Given the description of an element on the screen output the (x, y) to click on. 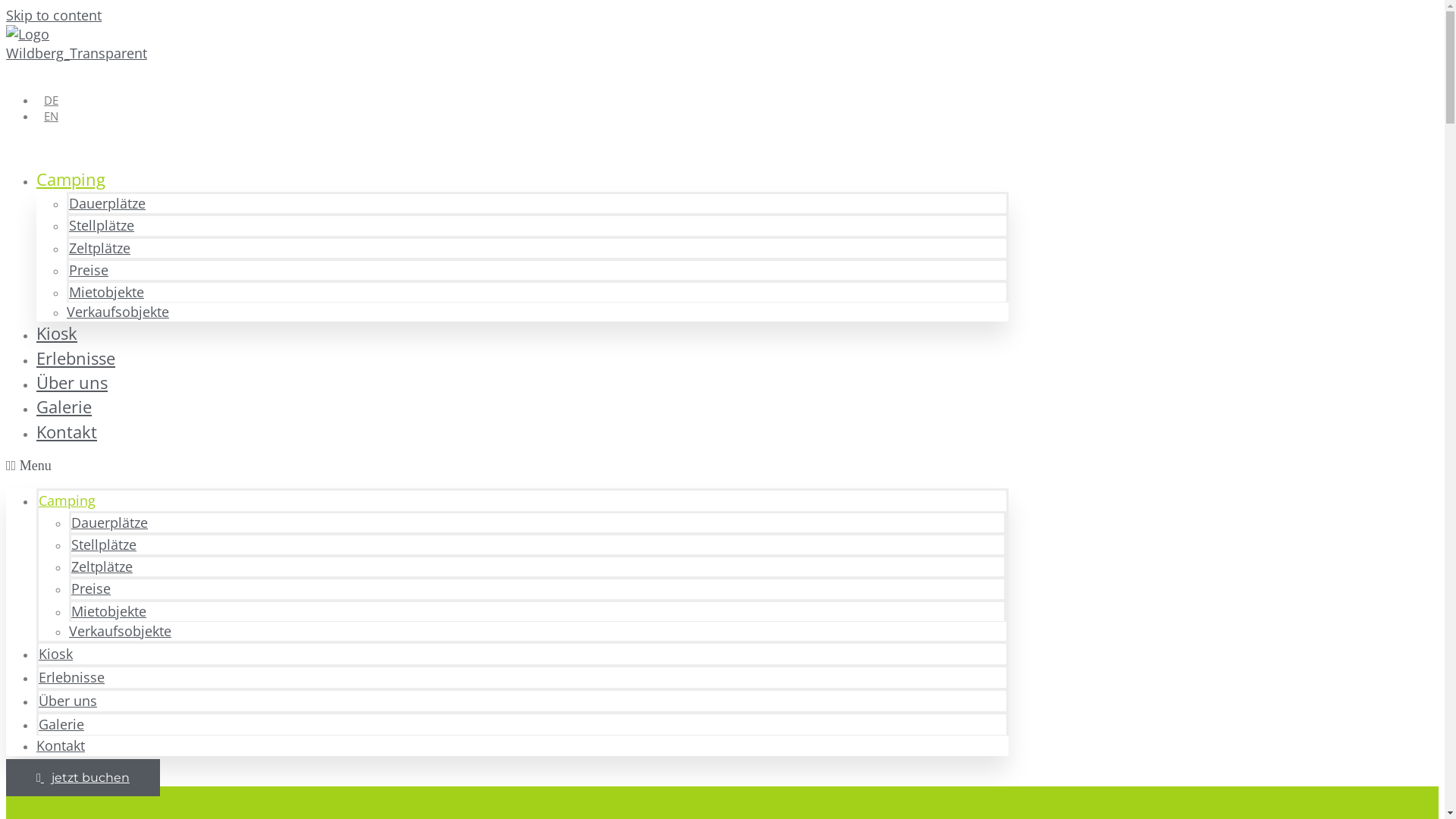
Erlebnisse Element type: text (75, 358)
Skip to content Element type: text (53, 15)
Galerie Element type: text (61, 724)
Kontakt Element type: text (60, 745)
Erlebnisse Element type: text (71, 677)
Mietobjekte Element type: text (106, 291)
Kiosk Element type: text (56, 333)
Preise Element type: text (90, 588)
jetzt buchen Element type: text (83, 777)
Preise Element type: text (88, 269)
EN Element type: text (47, 115)
Kiosk Element type: text (55, 653)
Verkaufsobjekte Element type: text (117, 311)
Kontakt Element type: text (66, 431)
Verkaufsobjekte Element type: text (120, 630)
Camping Element type: text (66, 500)
Galerie Element type: text (63, 406)
Camping Element type: text (70, 179)
Logo Wildberg_Transparent Element type: hover (78, 43)
Mietobjekte Element type: text (108, 611)
DE Element type: text (47, 99)
